Given the description of an element on the screen output the (x, y) to click on. 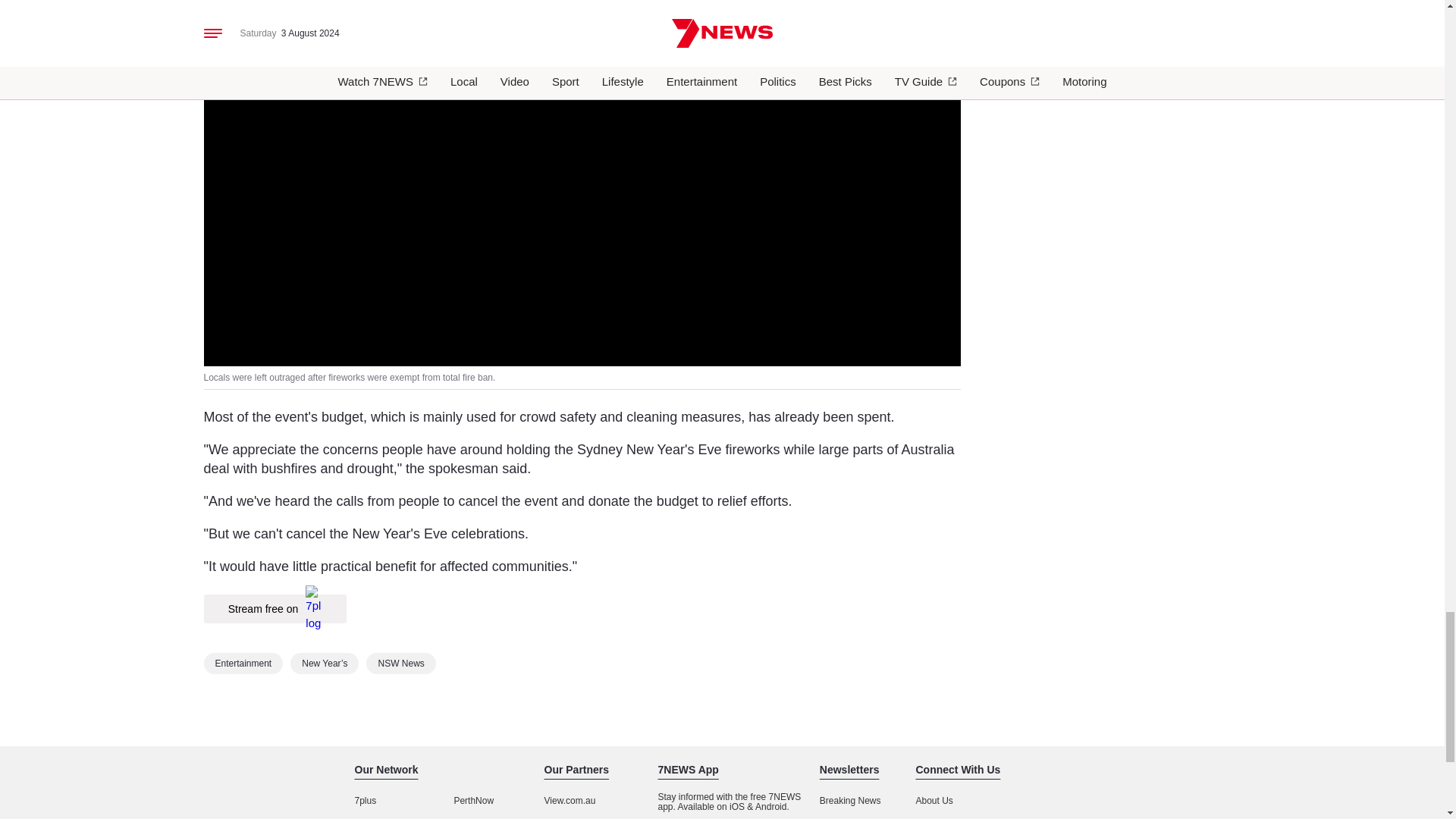
Play Video (581, 152)
